Given the description of an element on the screen output the (x, y) to click on. 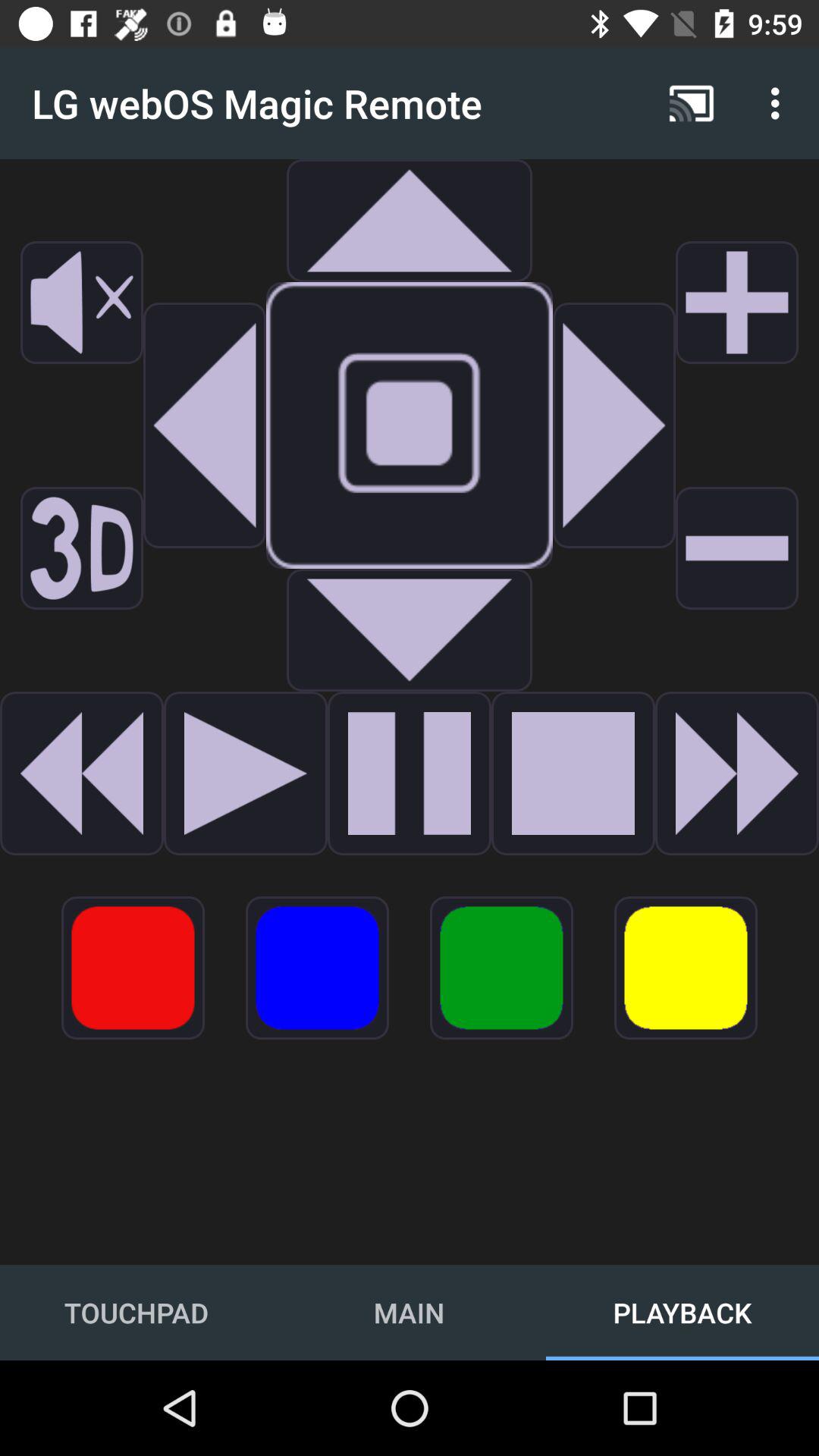
launch the item below lg webos magic item (409, 220)
